Given the description of an element on the screen output the (x, y) to click on. 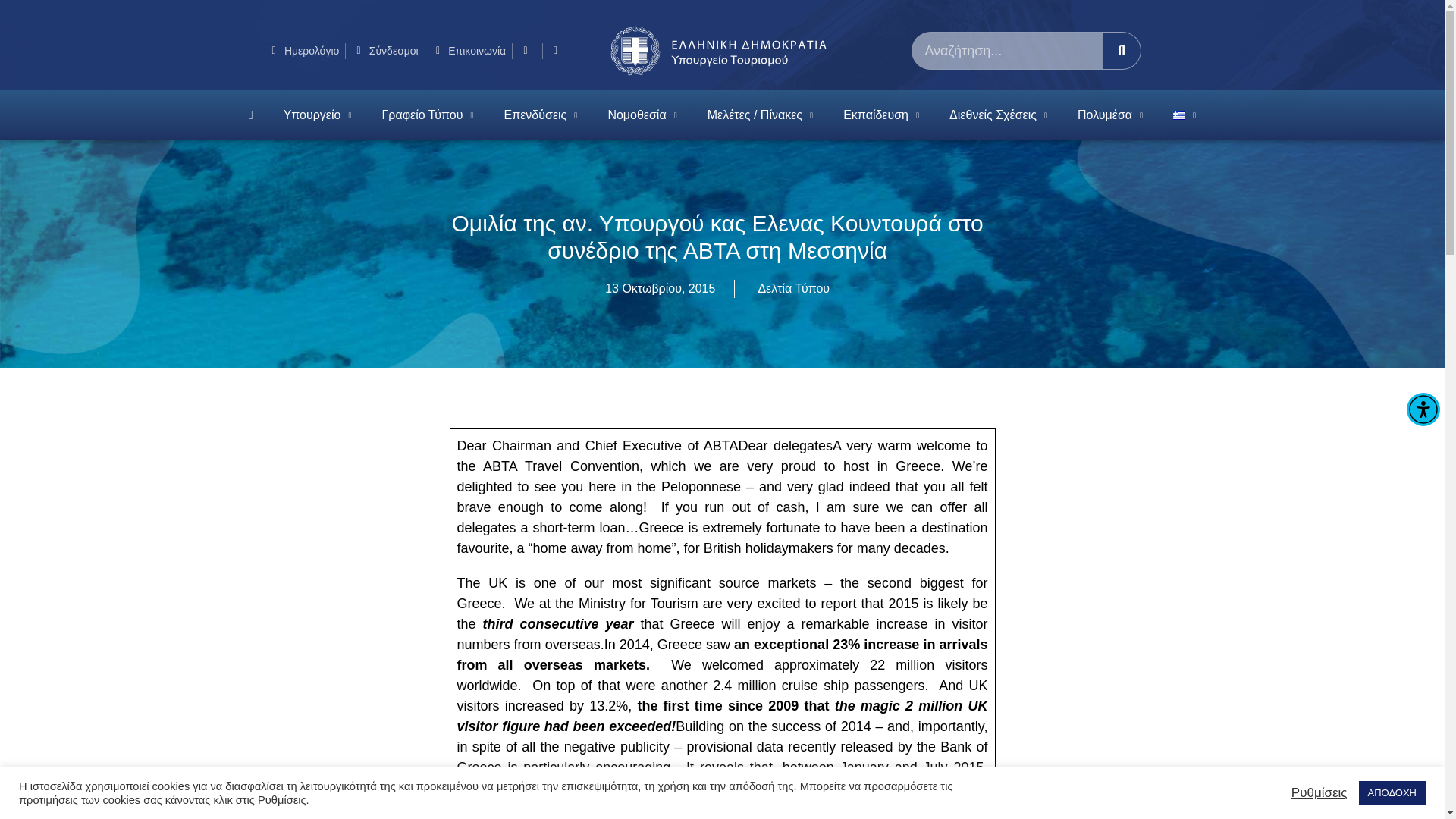
Accessibility Menu (1422, 409)
